Given the description of an element on the screen output the (x, y) to click on. 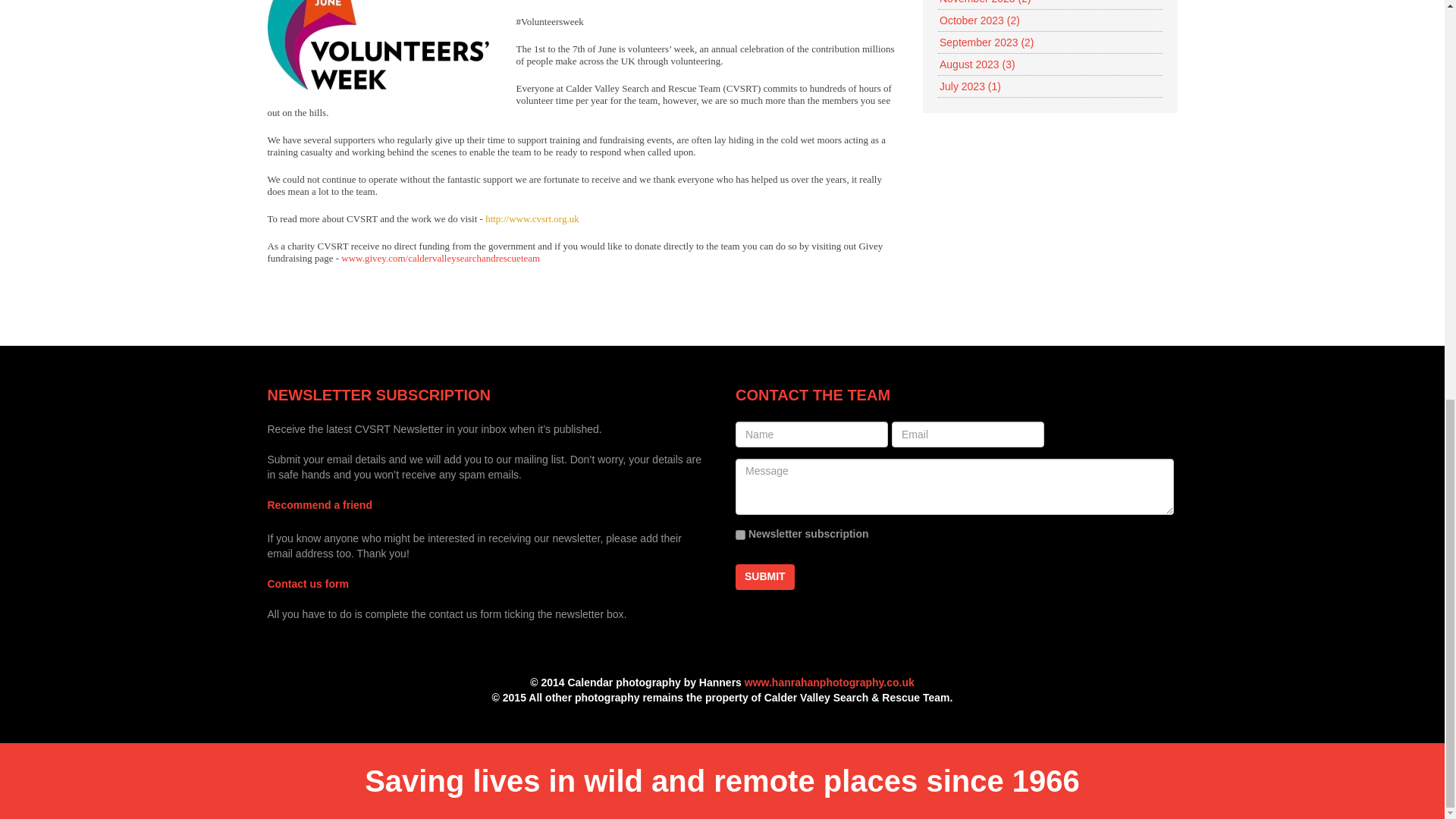
Submit (764, 576)
1 (740, 534)
